Given the description of an element on the screen output the (x, y) to click on. 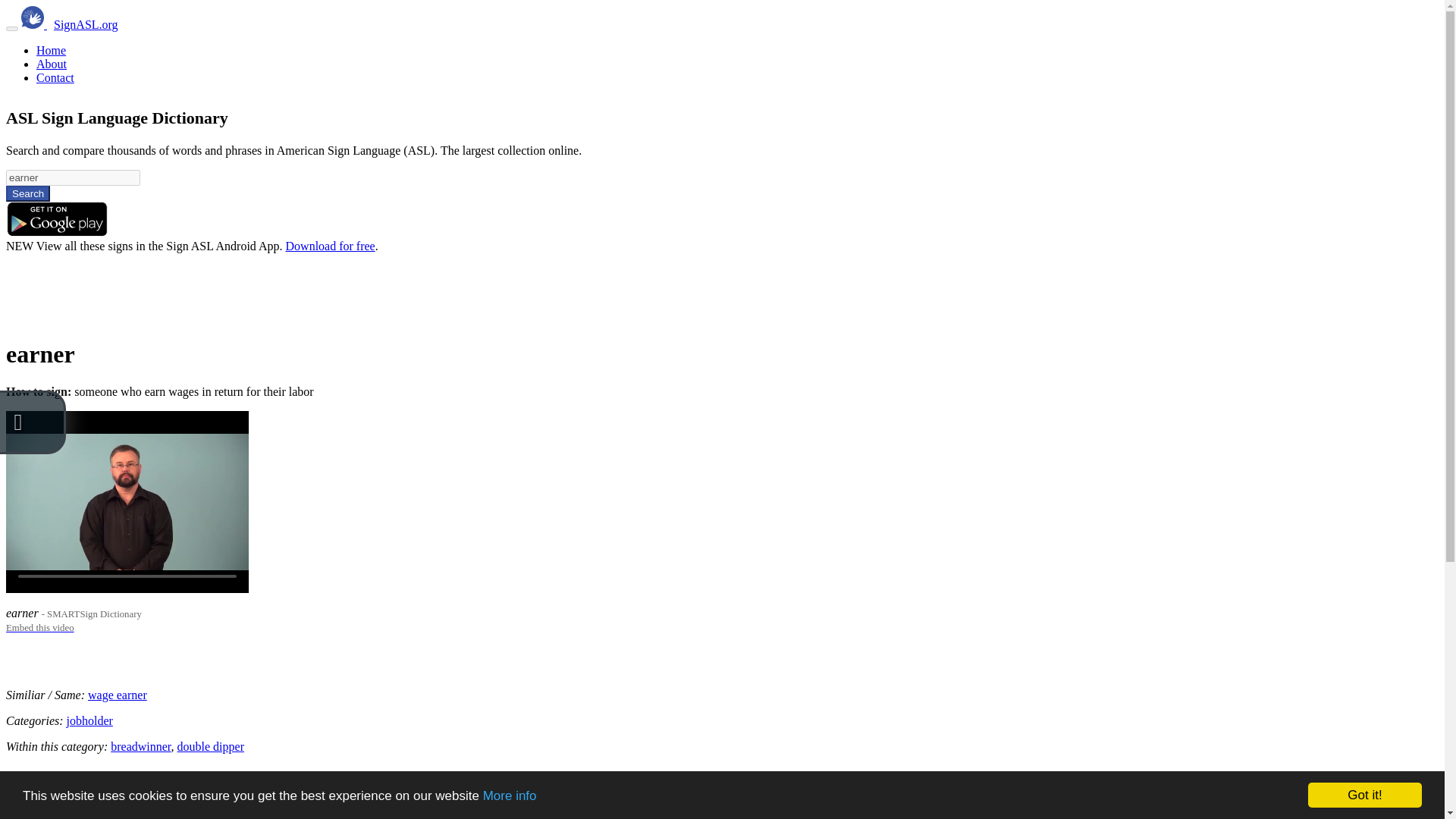
SignASL.org (85, 24)
breadwinner (140, 746)
wage earner (117, 694)
Embed this video (39, 626)
Download for free (330, 245)
Advertisement (281, 287)
Search (27, 193)
Contact (55, 77)
About (51, 63)
Home (50, 50)
double dipper (210, 746)
jobholder (89, 720)
Embed this video (39, 626)
earner (72, 177)
